Given the description of an element on the screen output the (x, y) to click on. 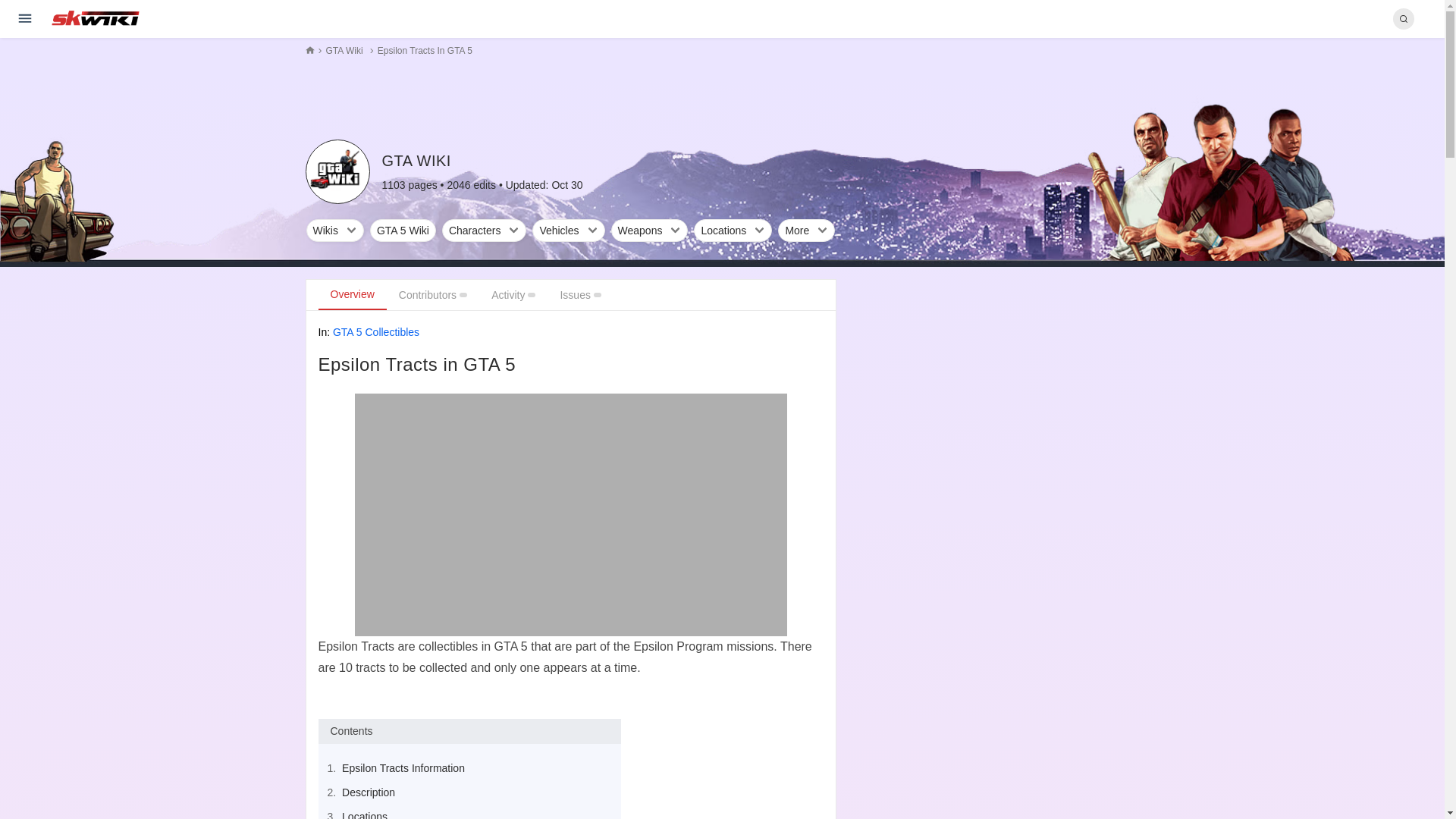
Sportskeeda Home (95, 18)
Search (1403, 18)
Sportskeeda Wiki (95, 18)
GTA Wiki (336, 171)
